Given the description of an element on the screen output the (x, y) to click on. 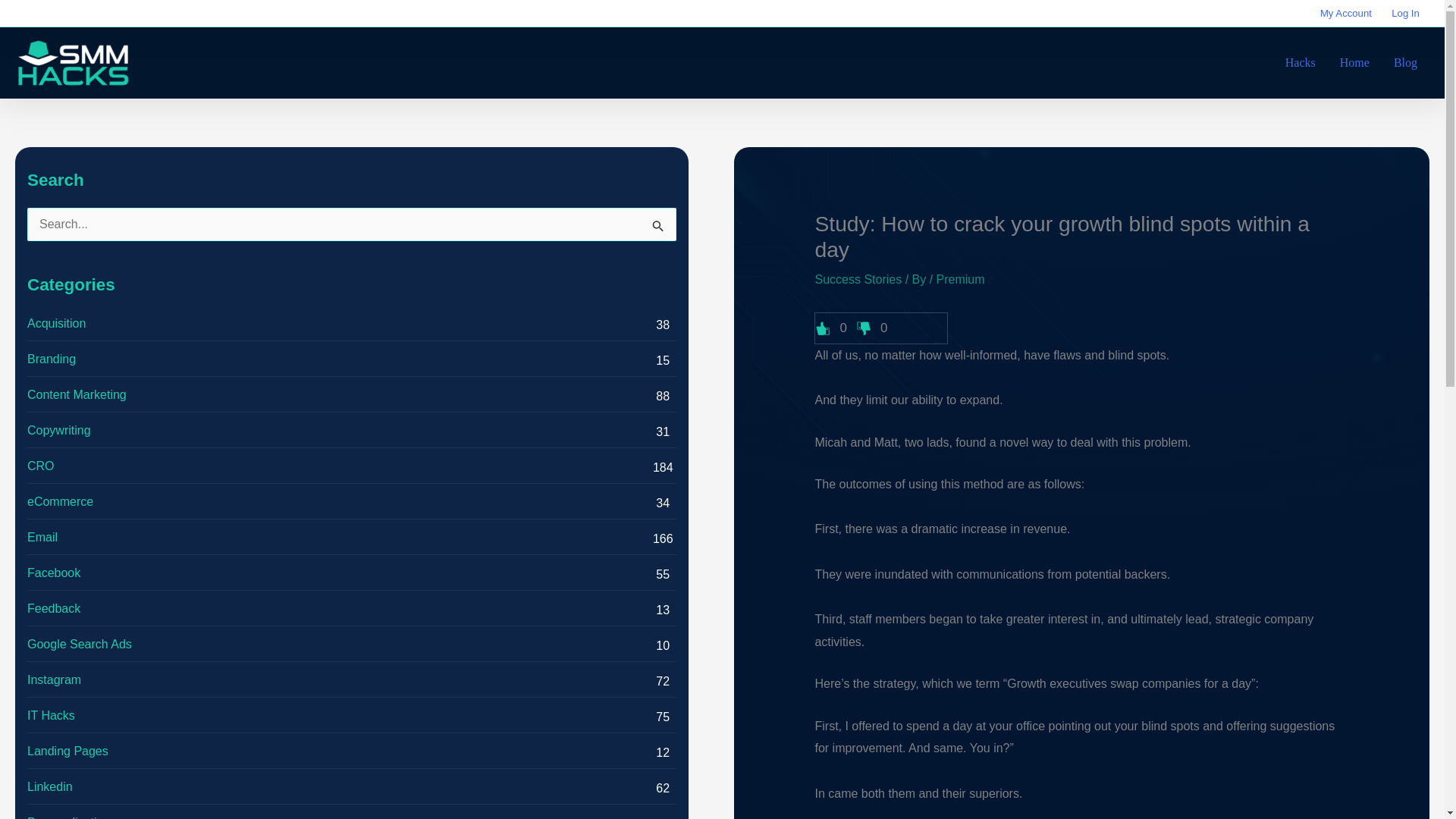
My Account (1345, 13)
Log In (1405, 13)
Instagram (54, 679)
Acquisition (56, 323)
IT Hacks (51, 715)
Landing Pages (67, 751)
eCommerce (60, 502)
CRO (41, 466)
Content Marketing (76, 394)
Email (42, 537)
